Given the description of an element on the screen output the (x, y) to click on. 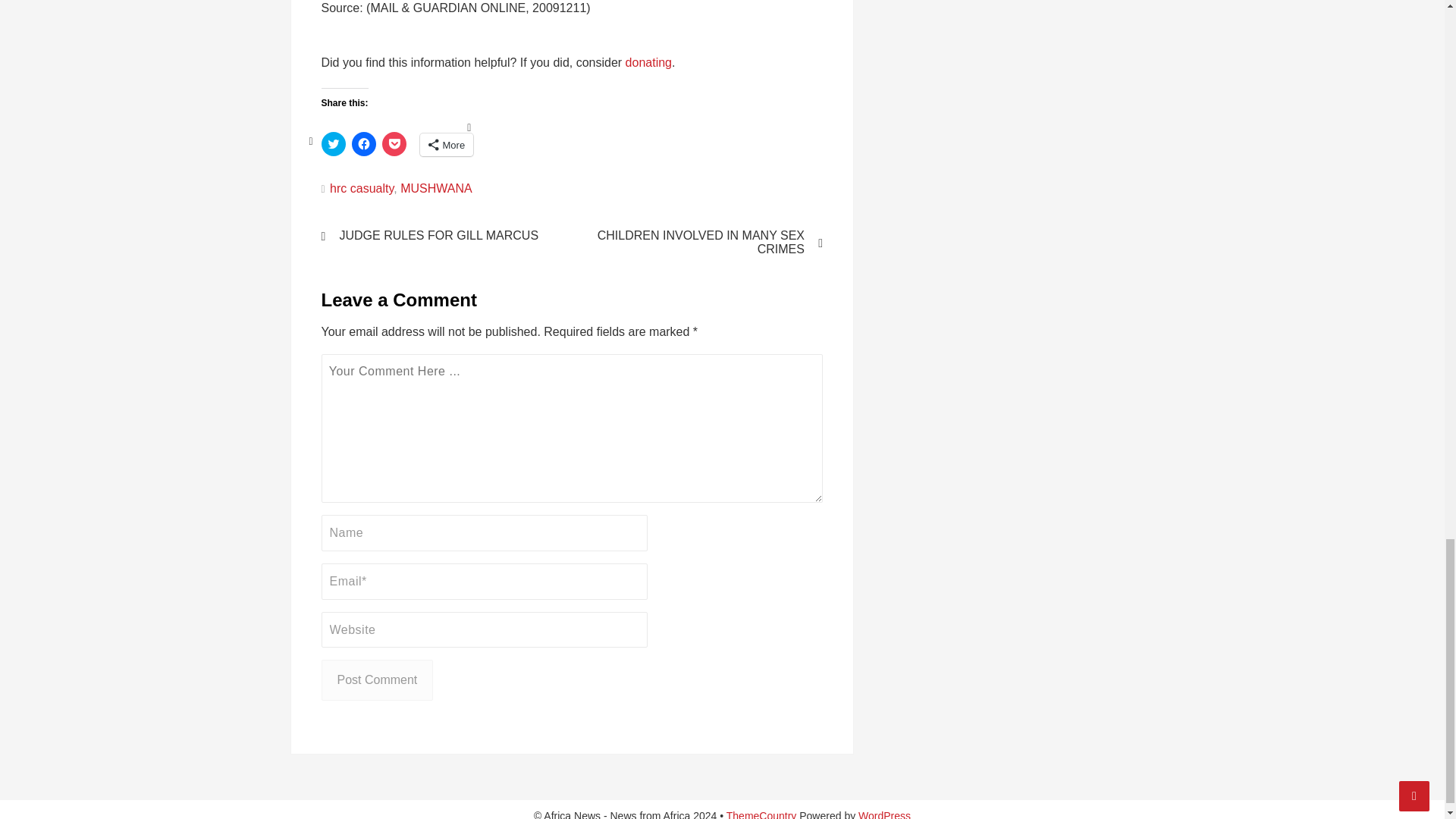
Post Comment (377, 680)
Post Comment (377, 680)
Click to share on Pocket (393, 143)
MUSHWANA (435, 187)
donating (648, 62)
Click to share on Twitter (333, 143)
CHILDREN INVOLVED IN MANY SEX CRIMES (707, 242)
Click to share on Facebook (363, 143)
More (447, 144)
hrc casualty (361, 187)
